Given the description of an element on the screen output the (x, y) to click on. 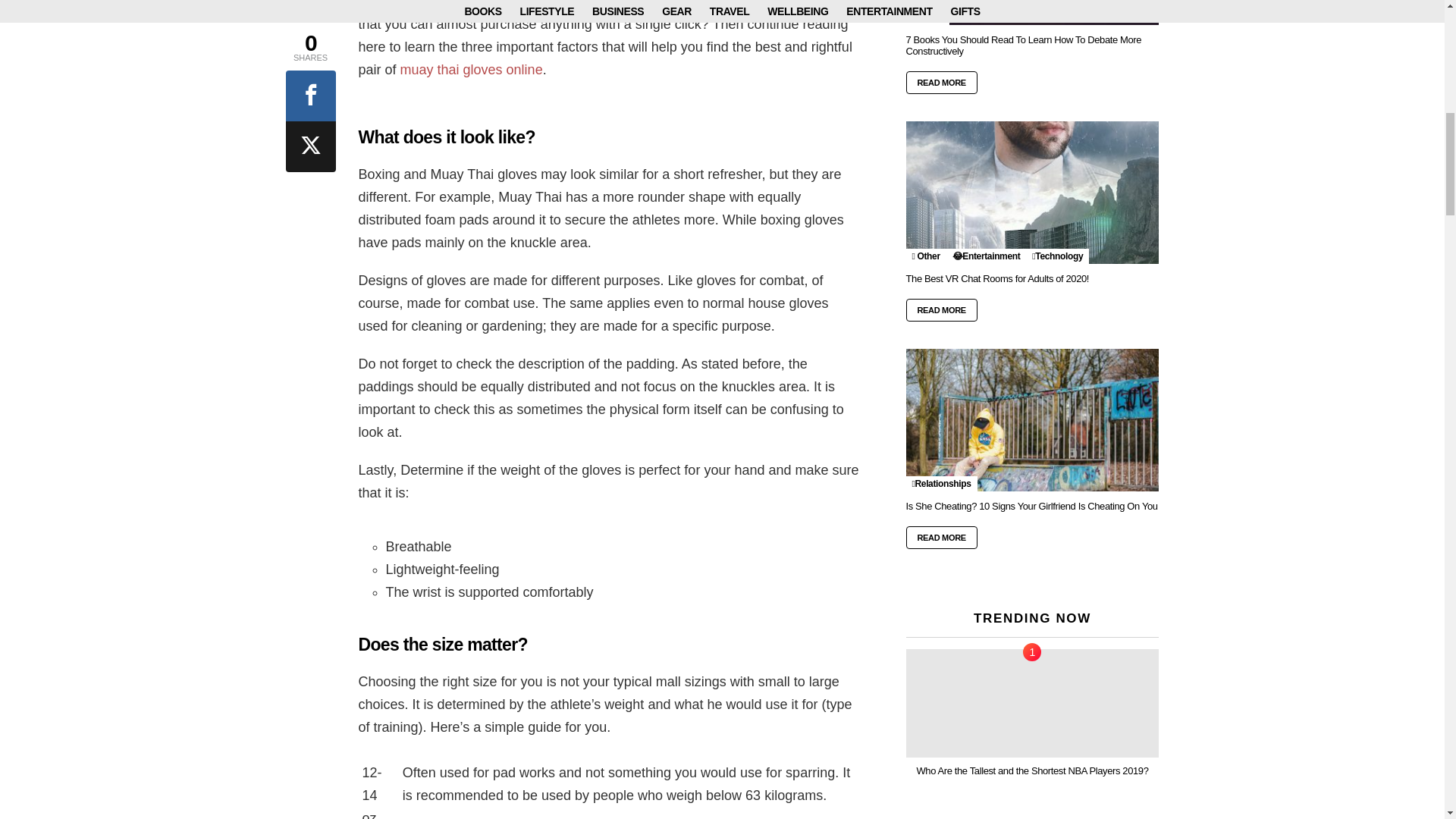
muay thai gloves online (471, 69)
